Given the description of an element on the screen output the (x, y) to click on. 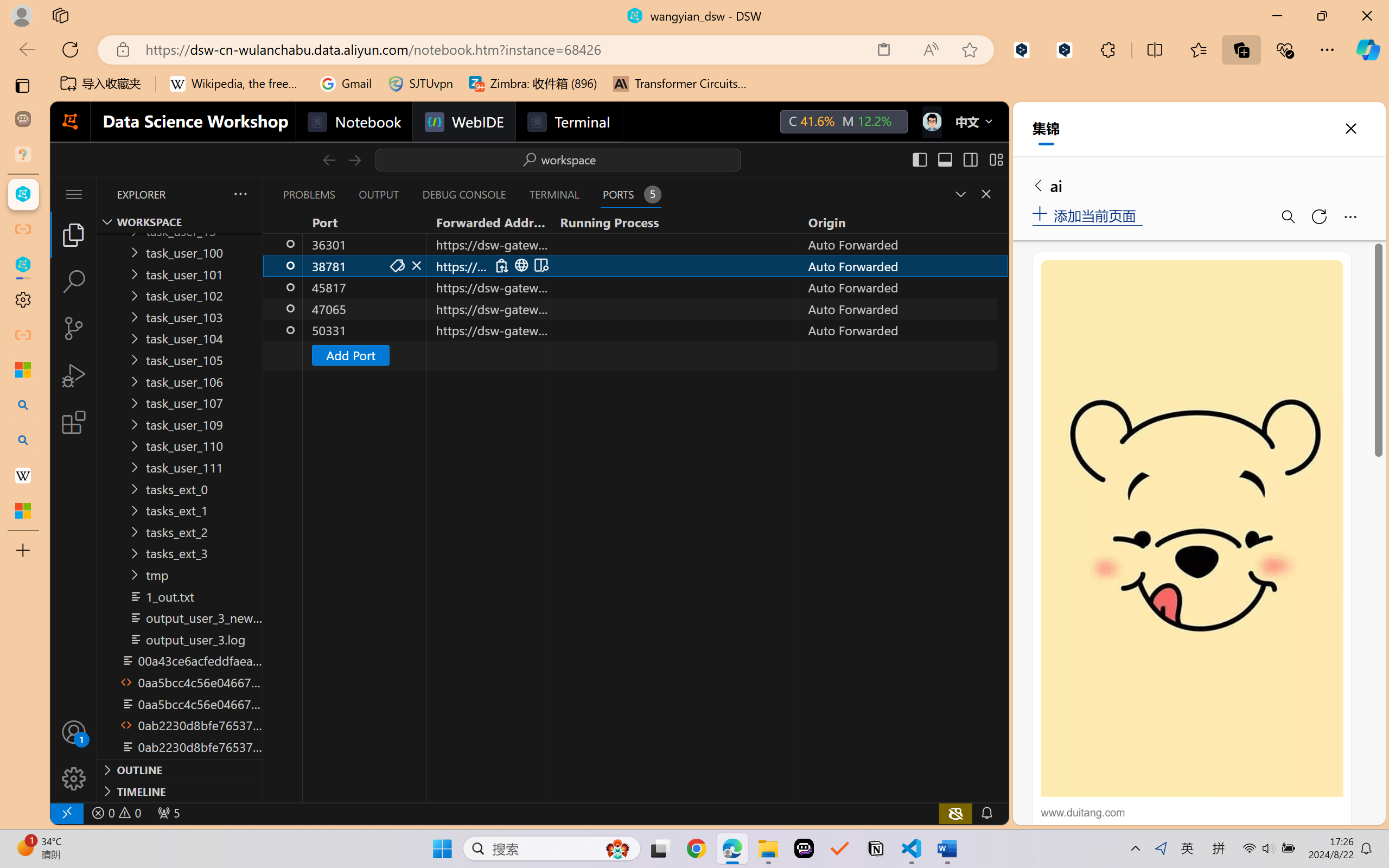
Go Forward (Alt+RightArrow) (354, 159)
SJTUvpn (419, 83)
Application Menu (73, 194)
